Given the description of an element on the screen output the (x, y) to click on. 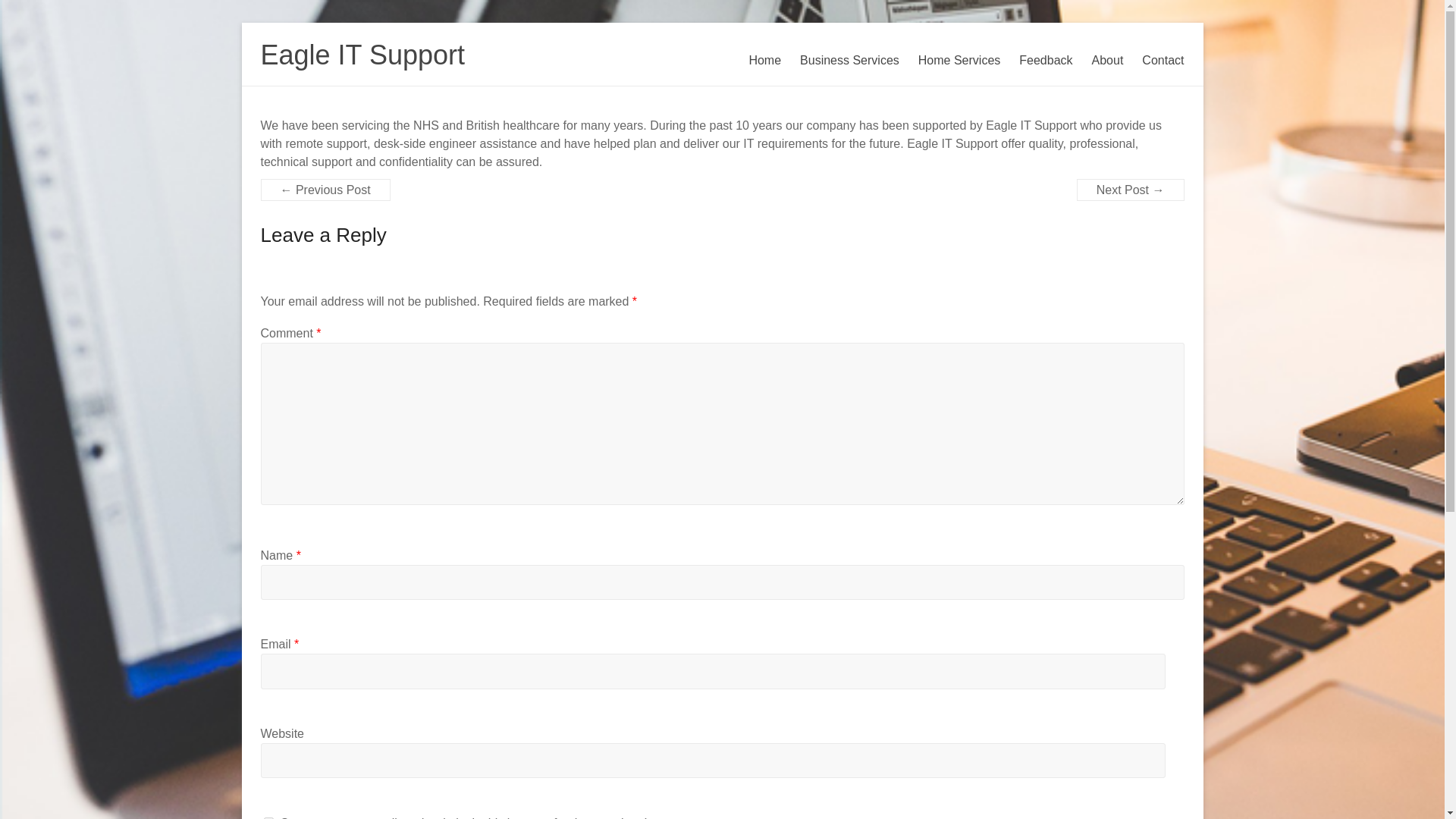
Eagle IT Support (362, 54)
Feedback (1045, 60)
About (1108, 60)
Business Services (849, 60)
Home (764, 60)
Contact (1162, 60)
Eagle IT Support (362, 54)
Home Services (959, 60)
